Given the description of an element on the screen output the (x, y) to click on. 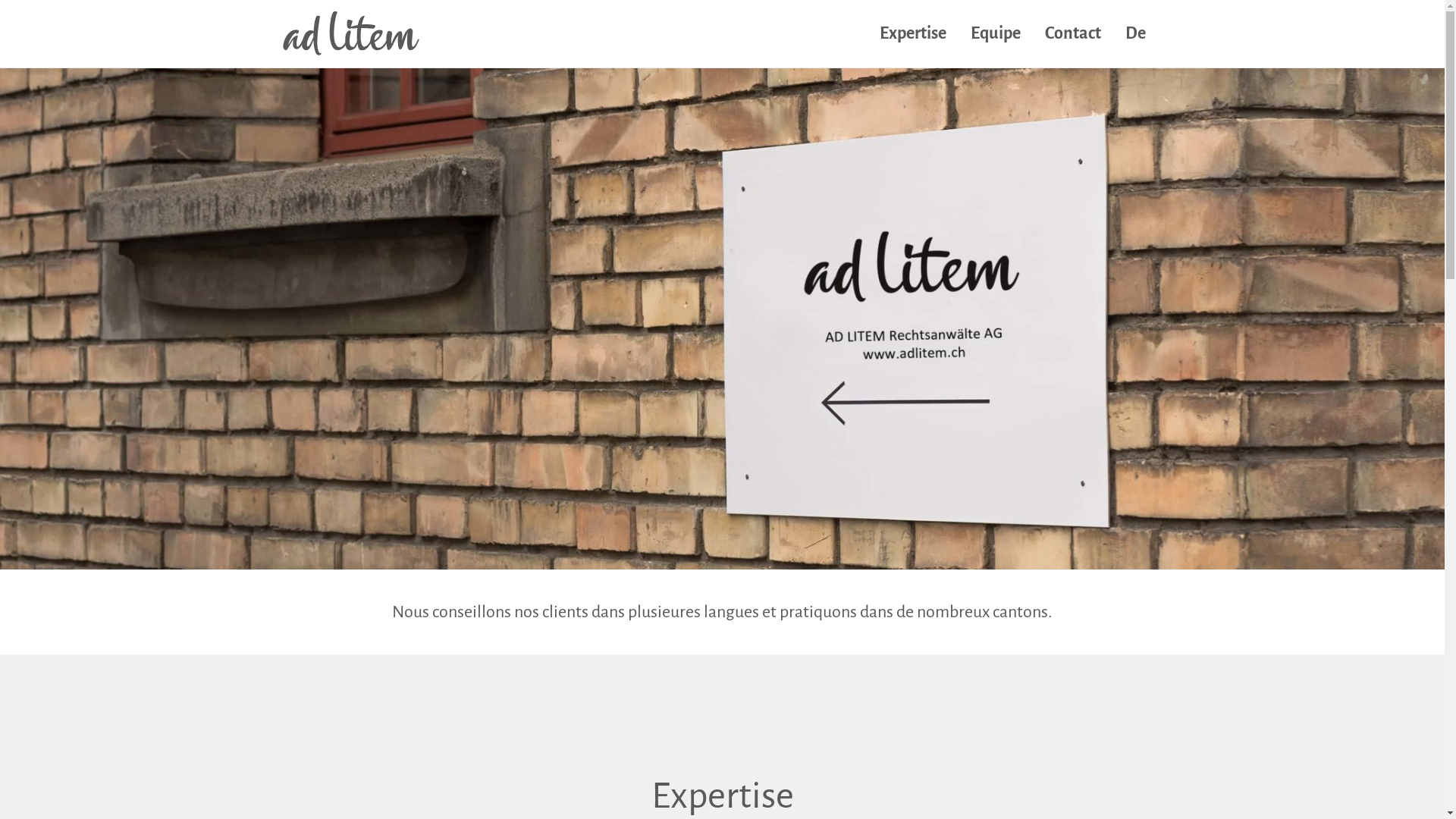
Equipe Element type: text (994, 33)
Contact Element type: text (1071, 33)
De Element type: text (1134, 33)
slider-logo-2020-bigger Element type: hover (722, 318)
Expertise Element type: text (912, 33)
